Given the description of an element on the screen output the (x, y) to click on. 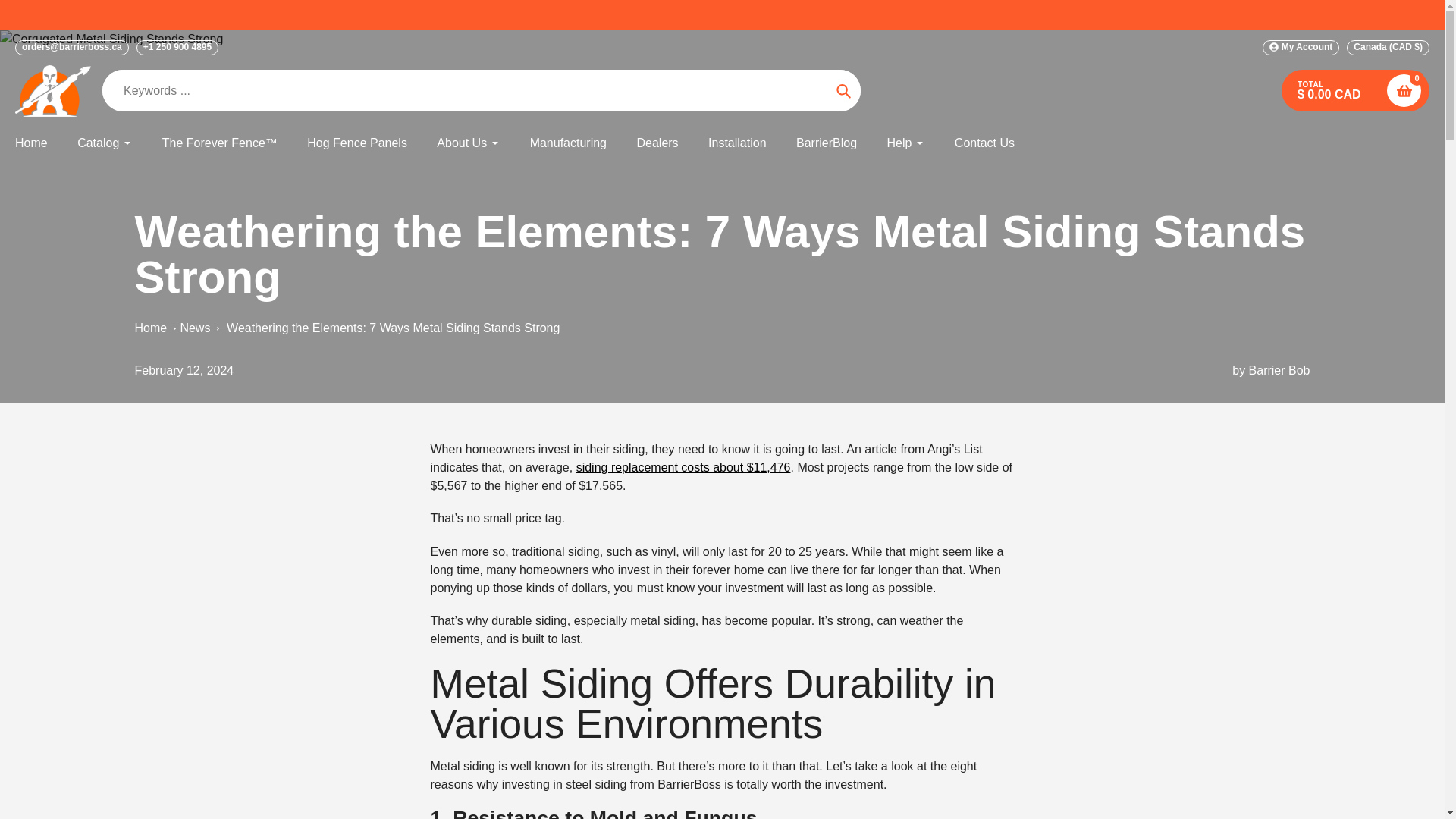
My Account (1300, 47)
